Given the description of an element on the screen output the (x, y) to click on. 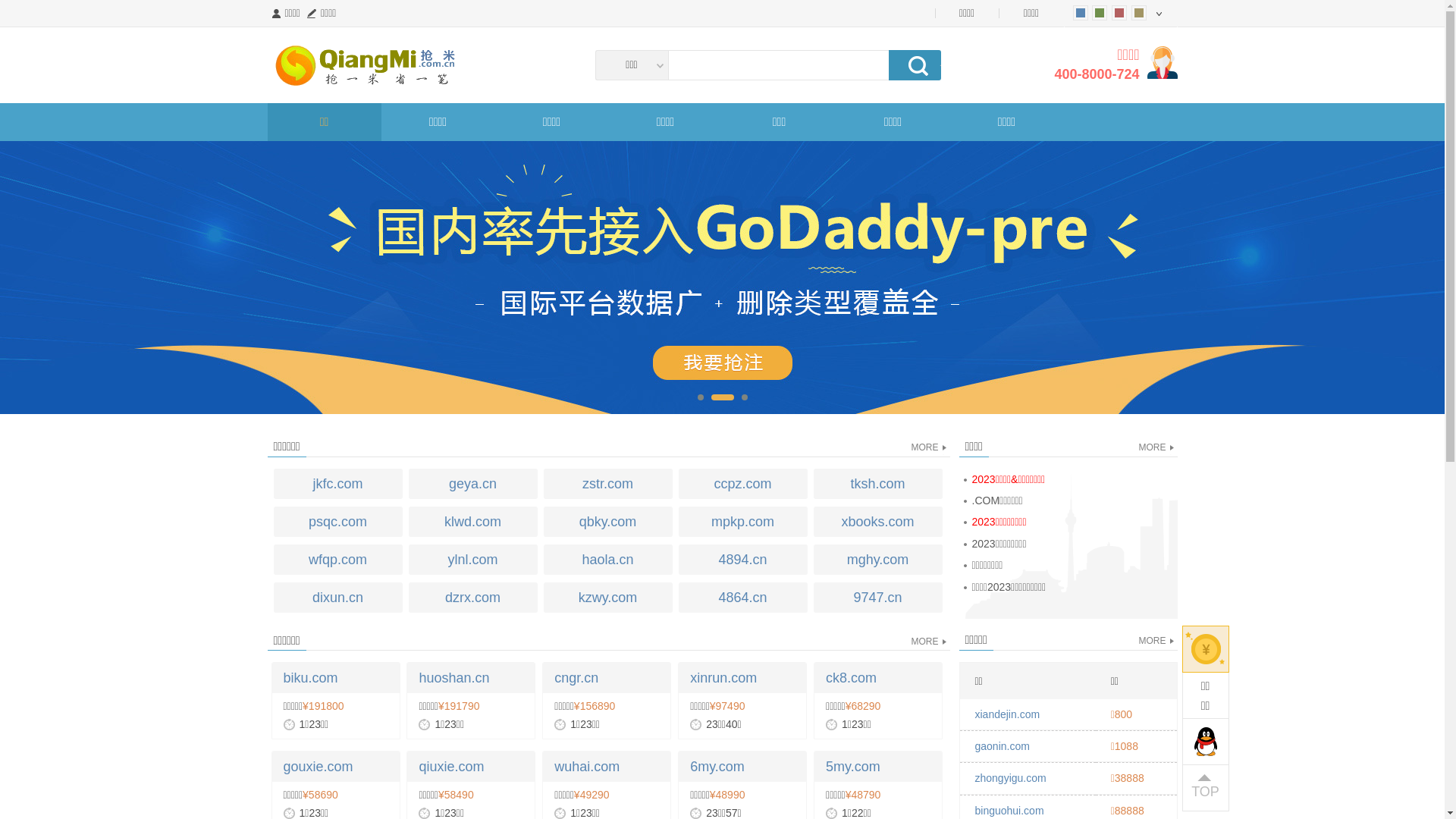
klwd.com Element type: text (471, 521)
dzrx.com Element type: text (471, 597)
ylnl.com Element type: text (471, 559)
ccpz.com Element type: text (741, 483)
zstr.com Element type: text (606, 483)
qbky.com Element type: text (606, 521)
mpkp.com Element type: text (741, 521)
zhongyigu.com Element type: text (1010, 777)
haola.cn Element type: text (606, 559)
wfqp.com Element type: text (337, 559)
jkfc.com Element type: text (337, 483)
MORE Element type: text (1152, 640)
MORE Element type: text (924, 641)
gaonin.com Element type: text (1002, 746)
9747.cn Element type: text (876, 597)
MORE Element type: text (924, 447)
MORE Element type: text (1152, 447)
xiandejin.com Element type: text (1007, 714)
tksh.com Element type: text (876, 483)
xbooks.com Element type: text (876, 521)
kzwy.com Element type: text (606, 597)
dixun.cn Element type: text (337, 597)
4894.cn Element type: text (741, 559)
psqc.com Element type: text (337, 521)
binguohui.com Element type: text (1009, 810)
mghy.com Element type: text (876, 559)
geya.cn Element type: text (471, 483)
4864.cn Element type: text (741, 597)
